Given the description of an element on the screen output the (x, y) to click on. 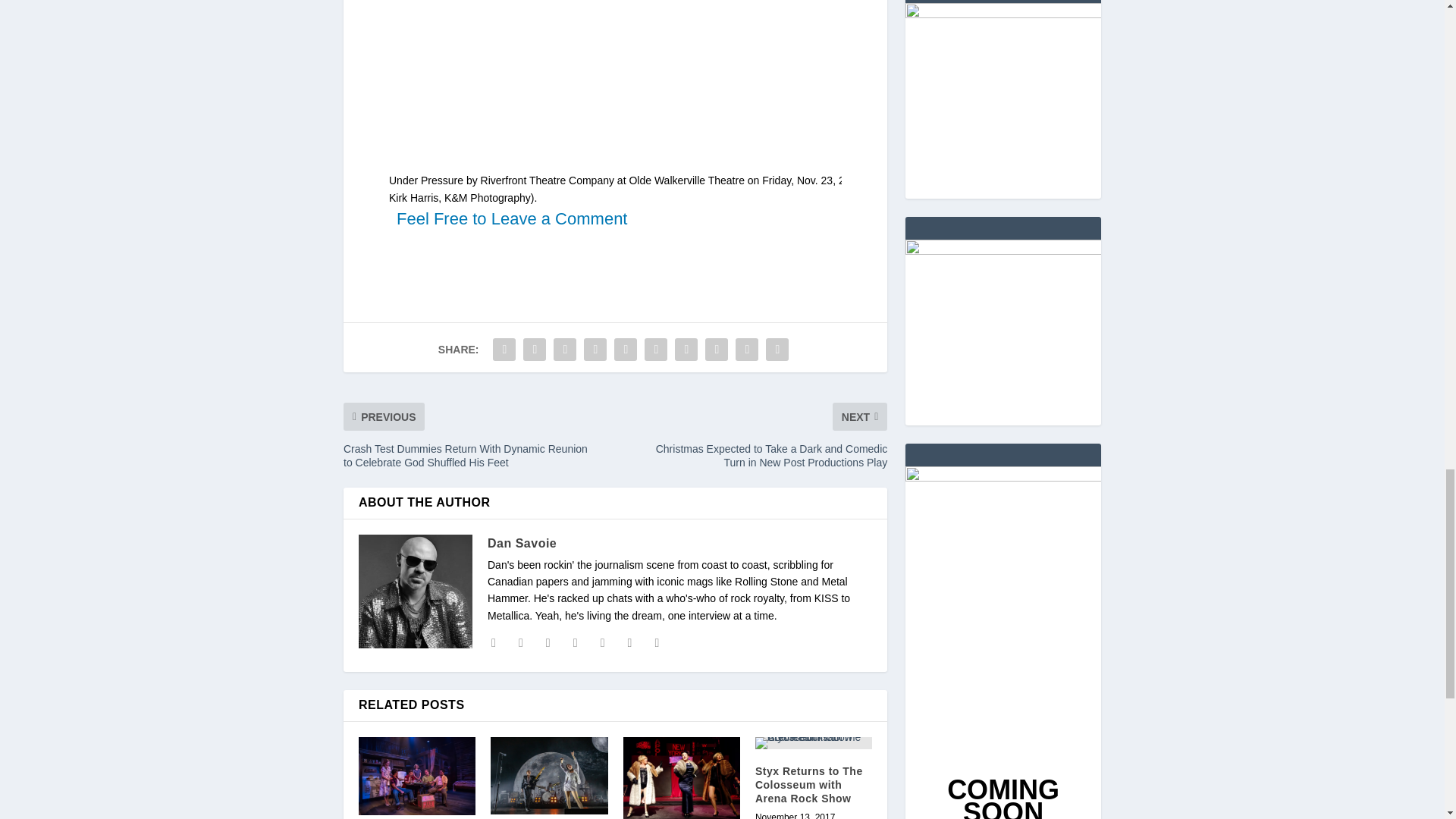
View all posts by Dan Savoie (521, 543)
University Players Dazzle With A Streetcar Named Desire (417, 775)
